Given the description of an element on the screen output the (x, y) to click on. 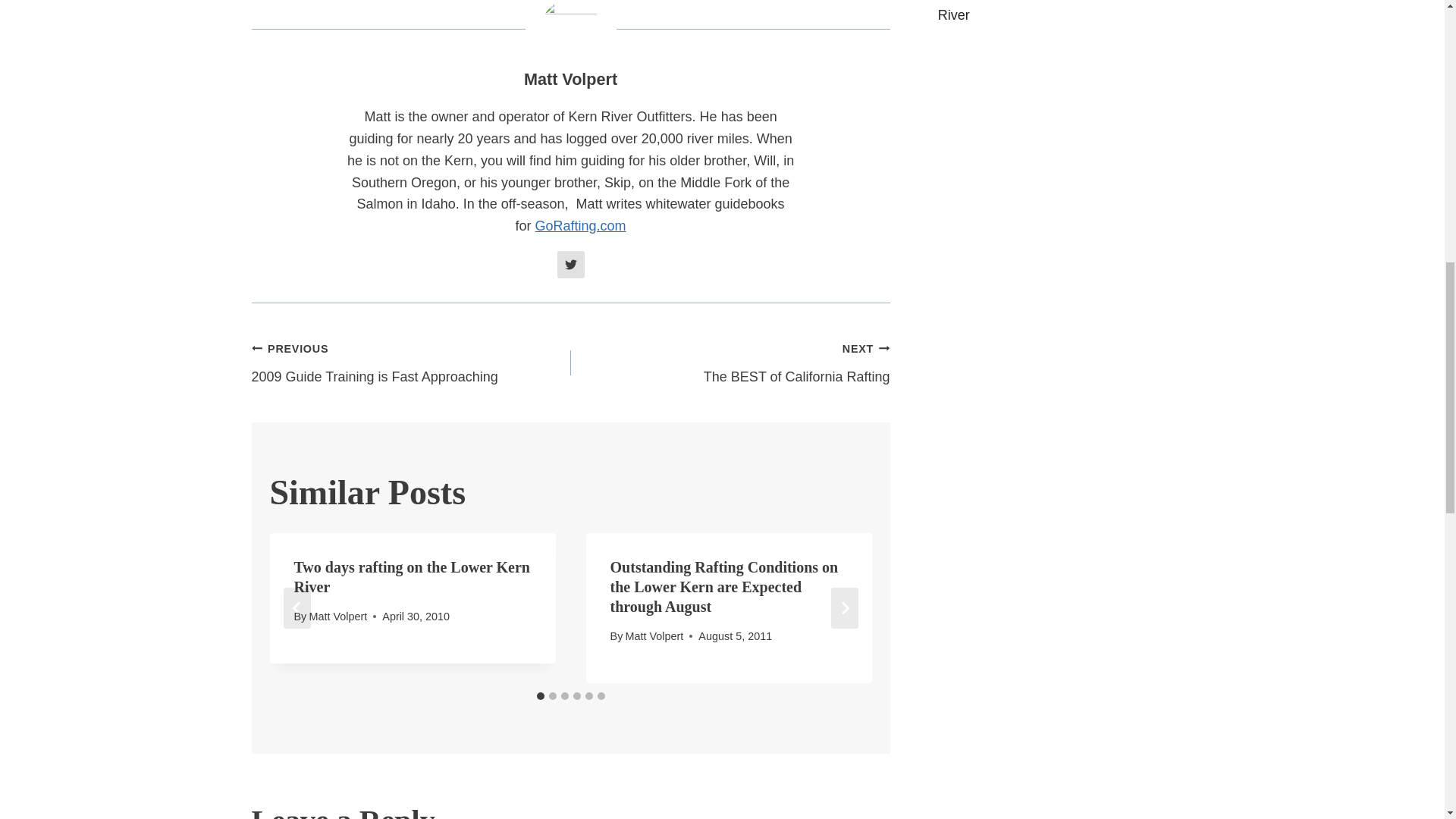
Follow Matt Volpert on Twitter (571, 264)
Posts by Matt Volpert (570, 78)
